Given the description of an element on the screen output the (x, y) to click on. 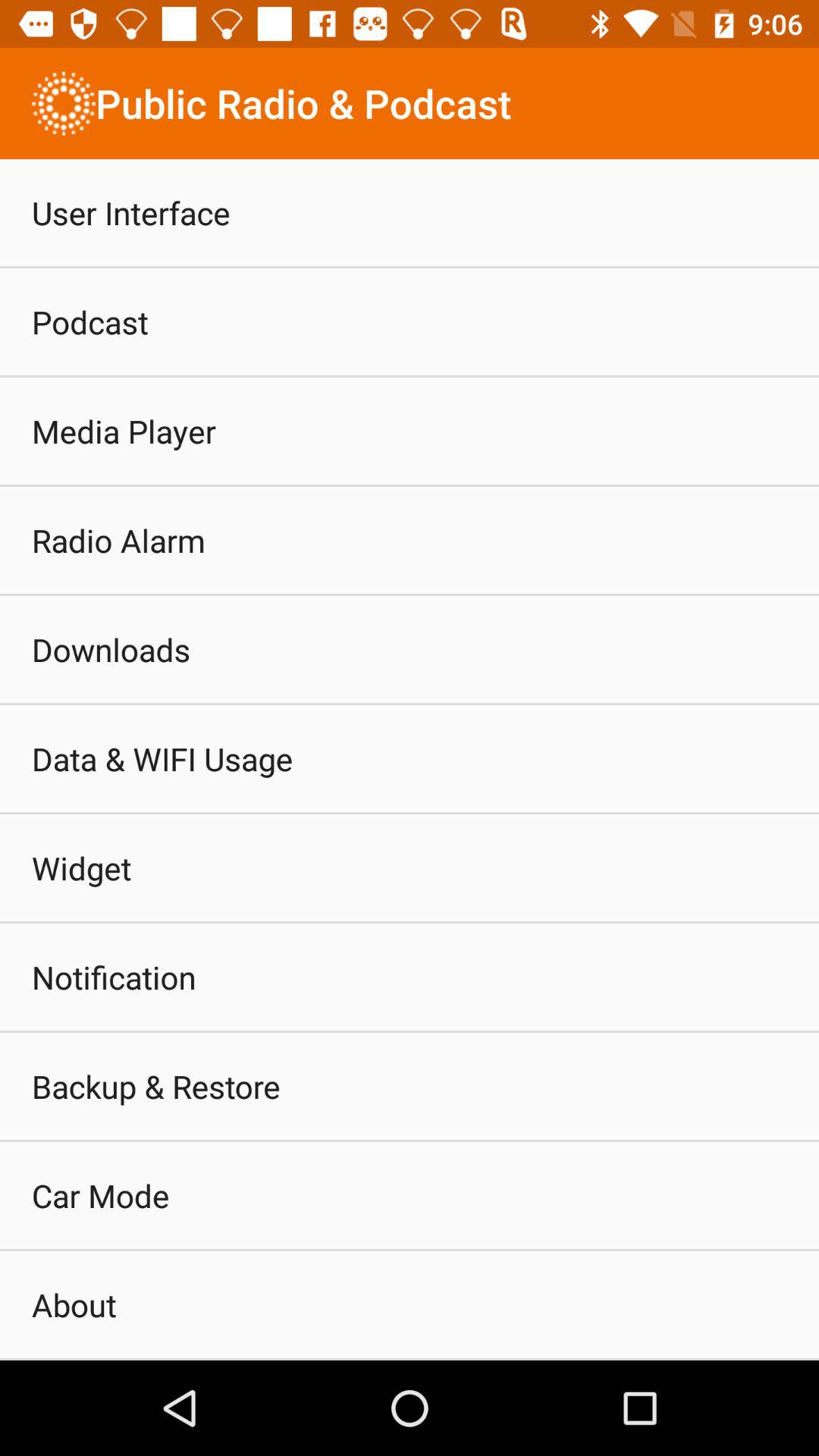
tap radio alarm (118, 539)
